Given the description of an element on the screen output the (x, y) to click on. 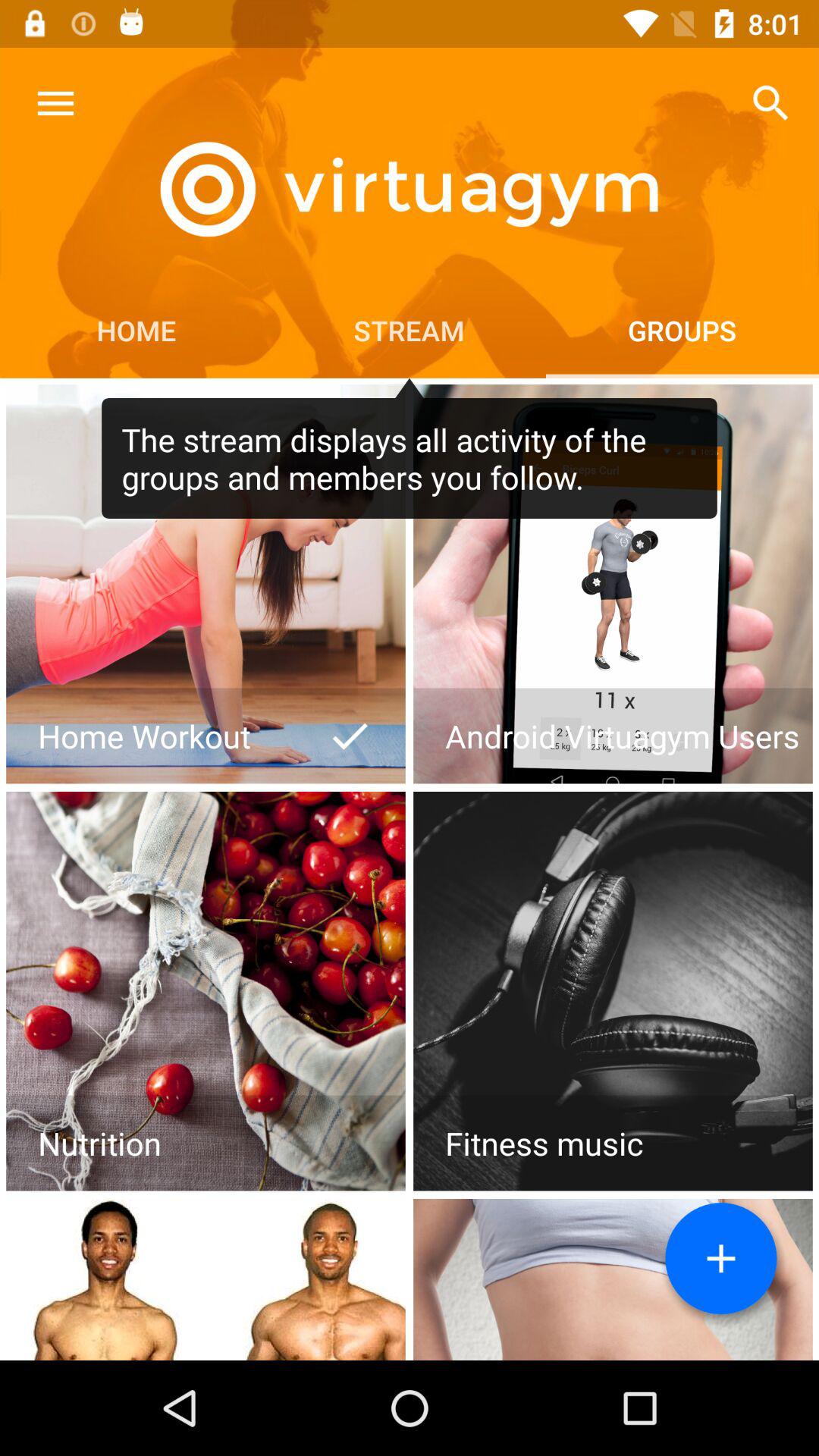
adds a new group for organization (721, 1258)
